Given the description of an element on the screen output the (x, y) to click on. 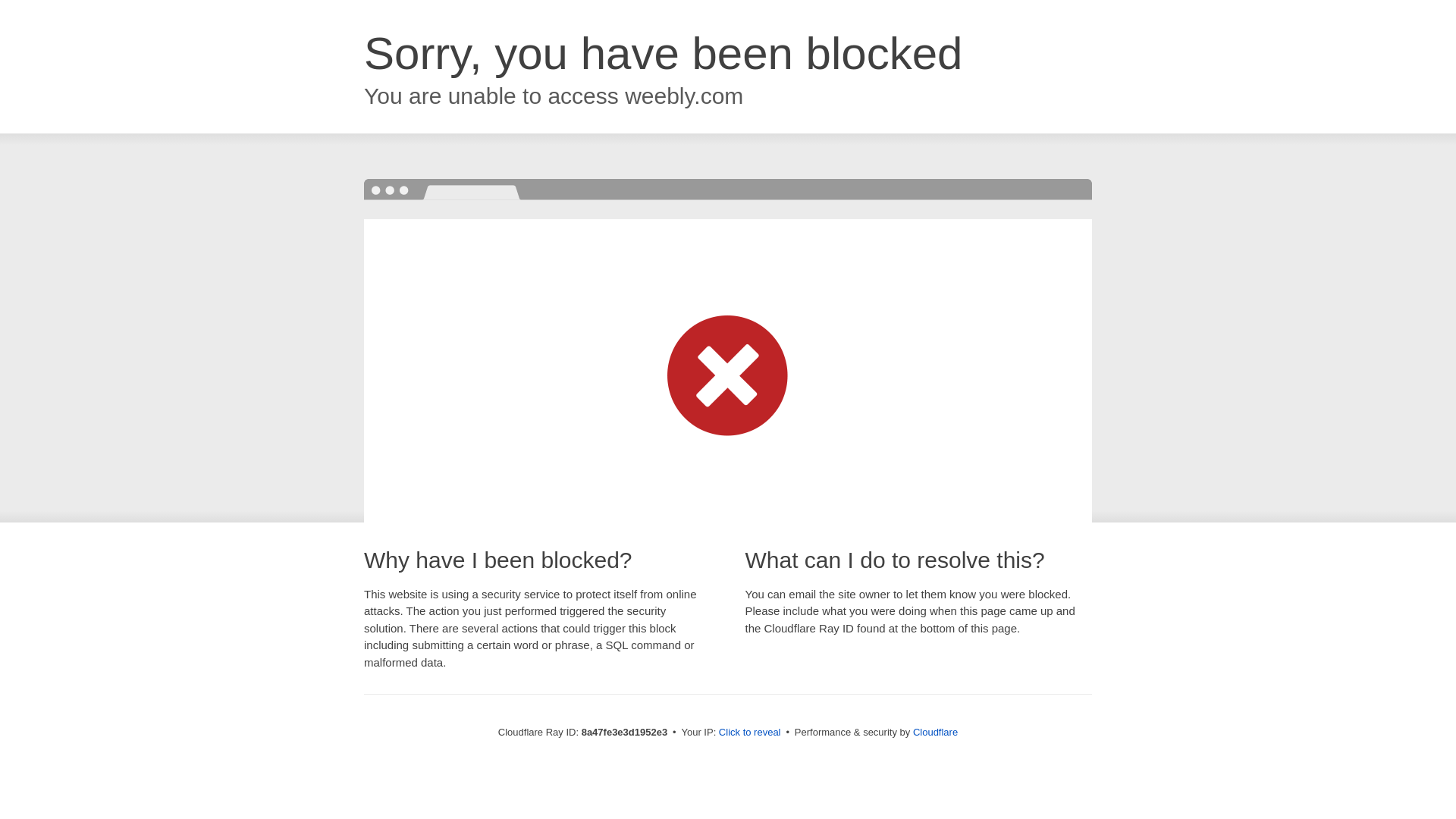
Click to reveal (749, 732)
Cloudflare (935, 731)
